Given the description of an element on the screen output the (x, y) to click on. 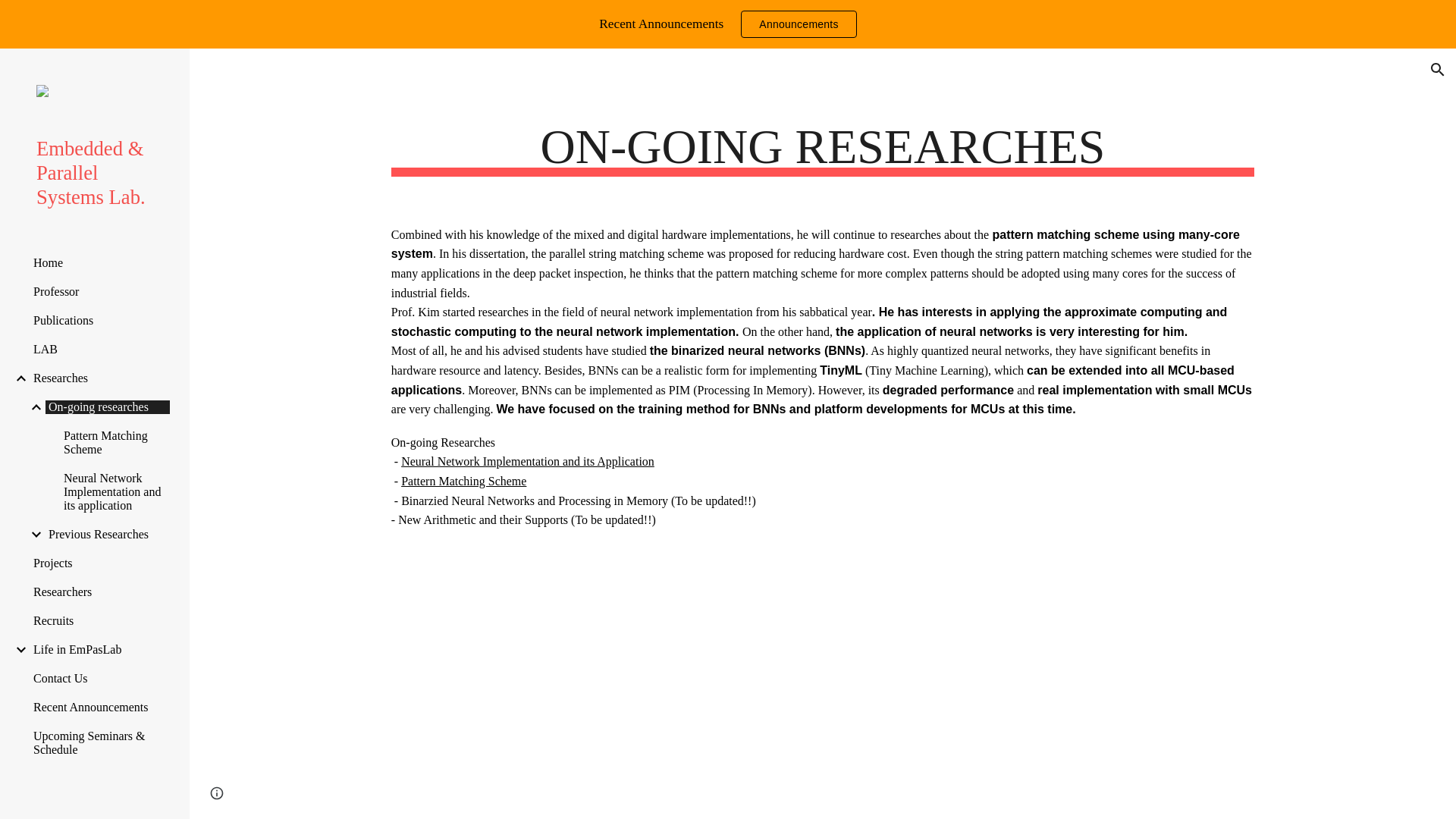
Life in EmPasLab (99, 649)
Researchers (99, 591)
Researches (99, 377)
Neural Network Implementation and its application (116, 491)
On-going researches (107, 407)
Previous Researches (107, 534)
LAB (99, 349)
Announcements (798, 23)
Pattern Matching Scheme (116, 442)
Announcements (798, 23)
Professor (99, 291)
Home (99, 263)
Publications (99, 320)
Recruits (99, 621)
Projects (99, 563)
